Given the description of an element on the screen output the (x, y) to click on. 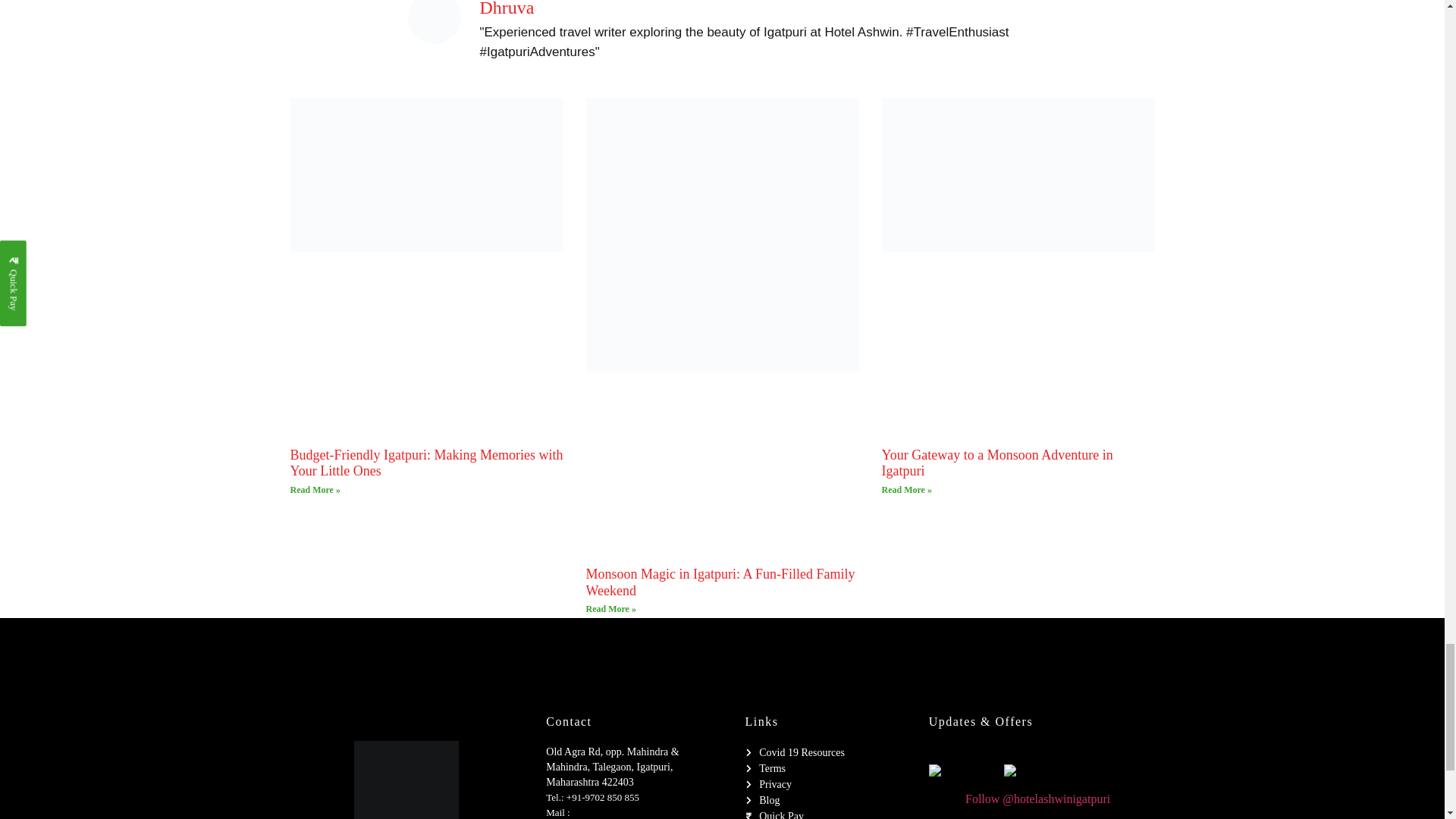
Your Gateway to a Monsoon Adventure in Igatpuri (996, 463)
Monsoon Magic in Igatpuri: A Fun-Filled Family Weekend (719, 582)
